Given the description of an element on the screen output the (x, y) to click on. 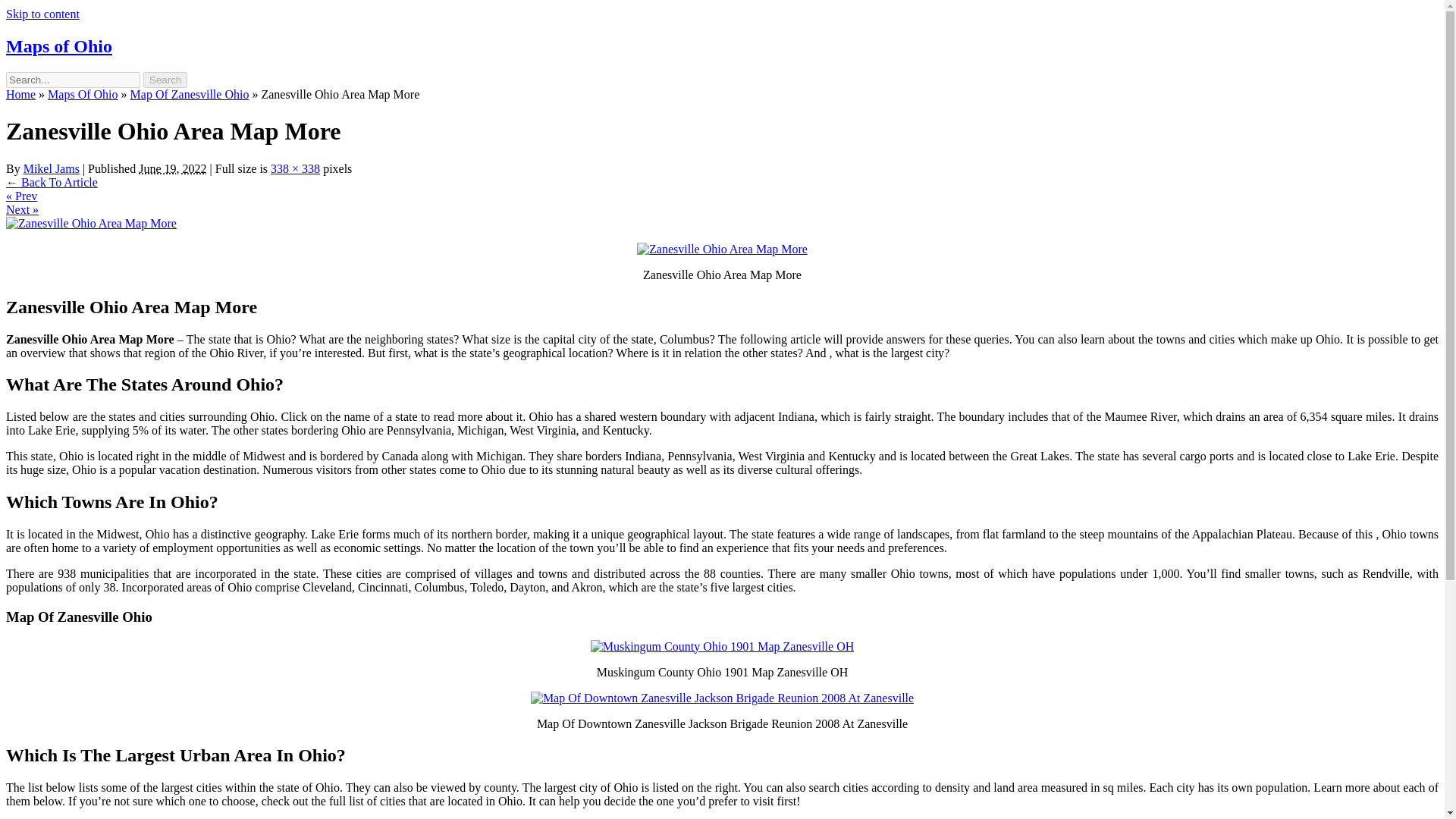
View all posts by Mikel Jams (51, 168)
Maps Of Ohio (82, 93)
zanesville ohio area map more (722, 249)
Home (19, 93)
Mikel Jams (51, 168)
Skip to content (42, 13)
Search (164, 79)
Search (164, 79)
Search (164, 79)
